Given the description of an element on the screen output the (x, y) to click on. 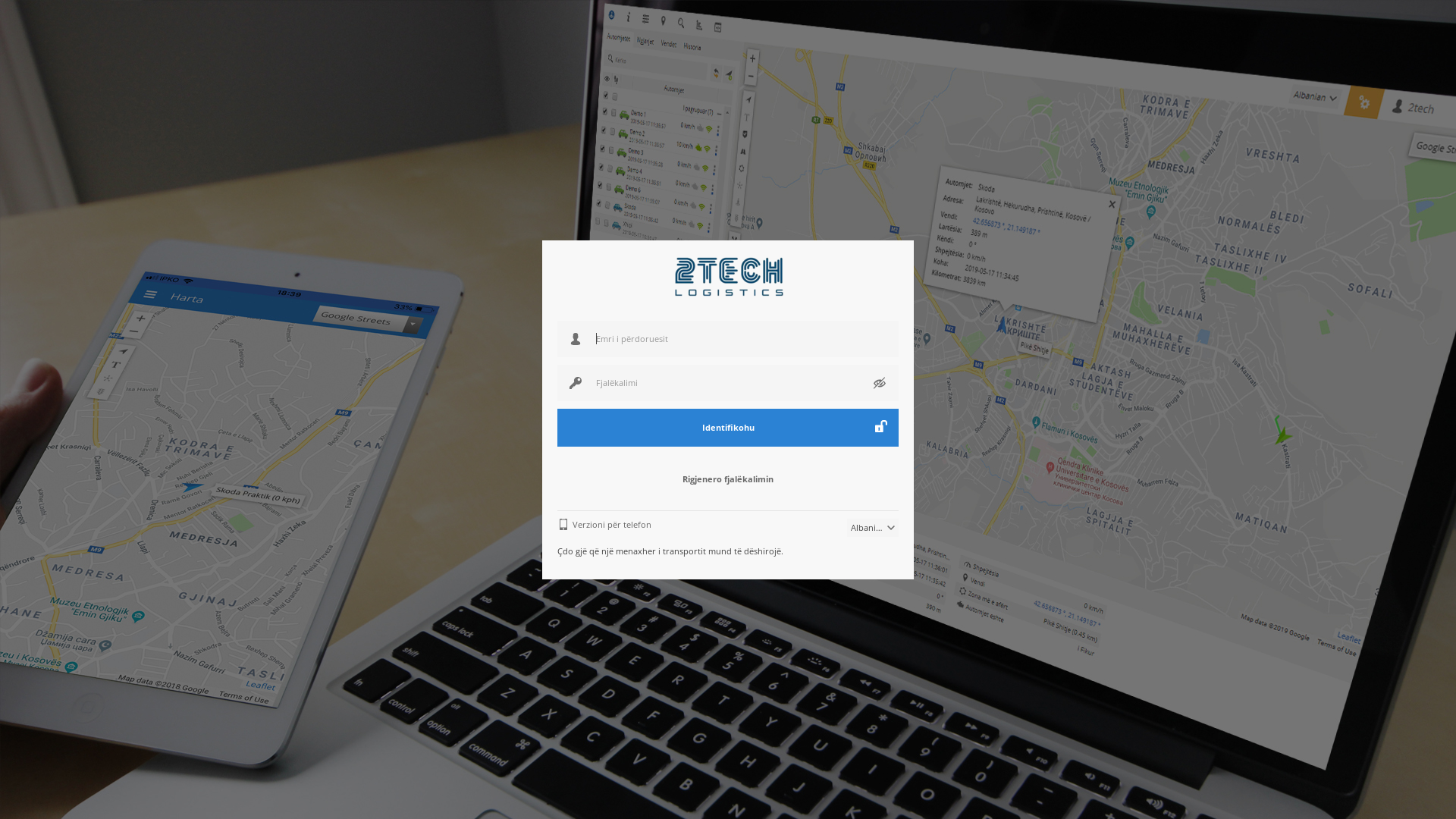
Identifikohu Element type: text (727, 426)
Albanian Element type: text (872, 527)
Rigjenero Element type: text (727, 572)
